Given the description of an element on the screen output the (x, y) to click on. 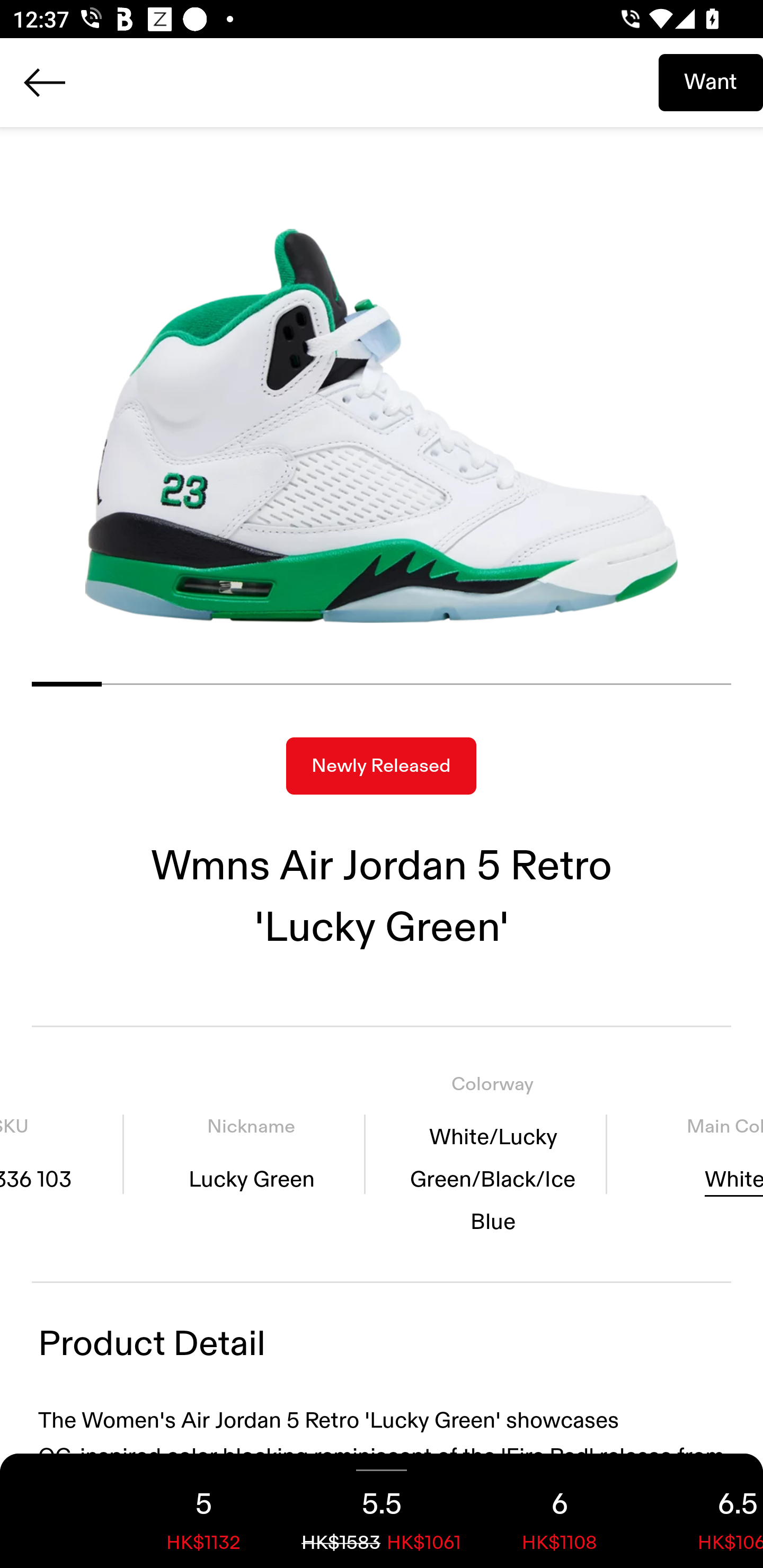
Want (710, 82)
Newly Released (381, 765)
Nickname Lucky Green (250, 1153)
Colorway White/Lucky Green/Black/Ice Blue (492, 1153)
5 HK$1132 (203, 1510)
5.5 HK$1583 HK$1061 (381, 1510)
6 HK$1108 (559, 1510)
6.5 HK$1068 (705, 1510)
